Given the description of an element on the screen output the (x, y) to click on. 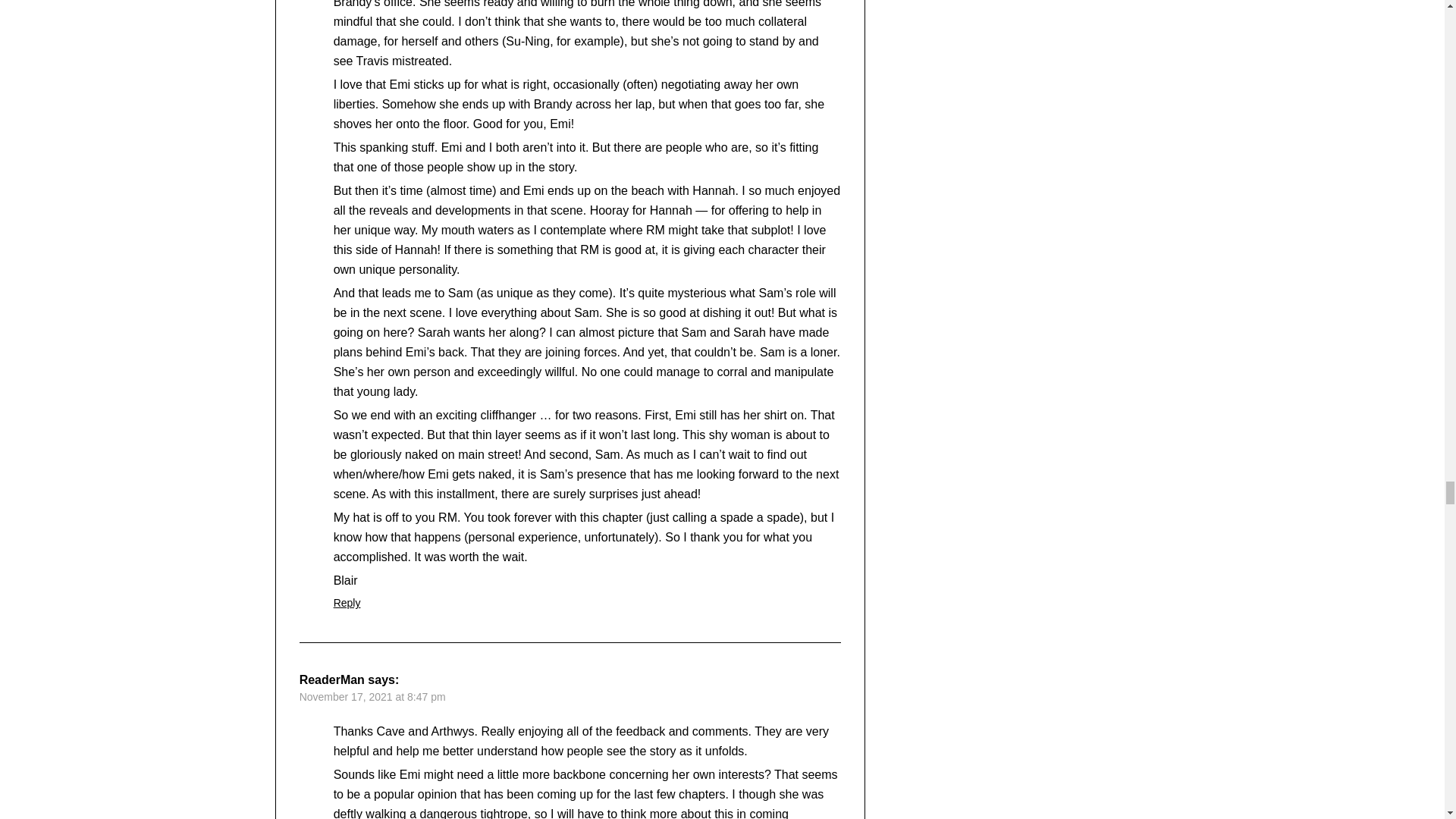
November 17, 2021 at 8:47 pm (372, 696)
Reply (347, 603)
